Given the description of an element on the screen output the (x, y) to click on. 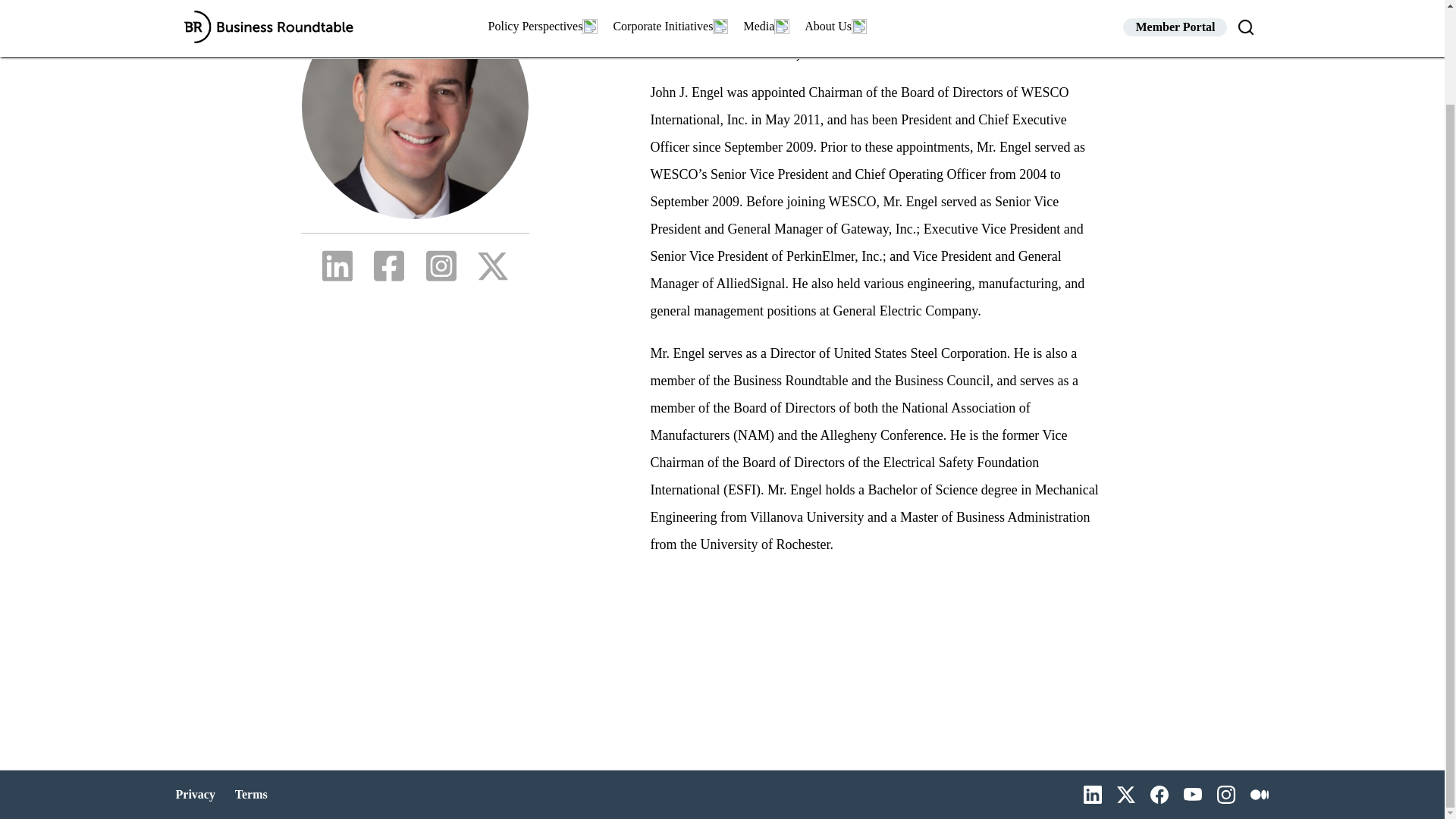
Privacy  (197, 794)
Terms (250, 794)
